Given the description of an element on the screen output the (x, y) to click on. 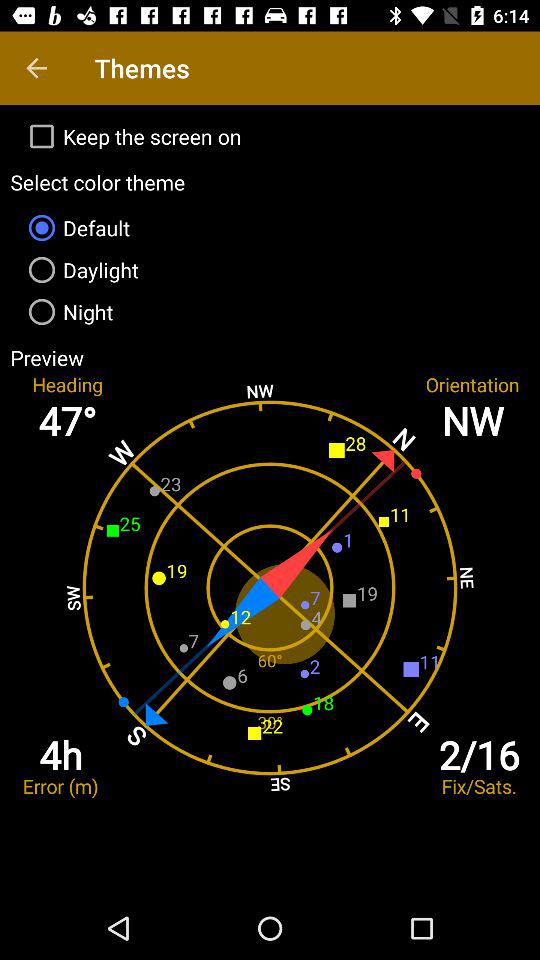
select icon next to the themes icon (36, 68)
